Given the description of an element on the screen output the (x, y) to click on. 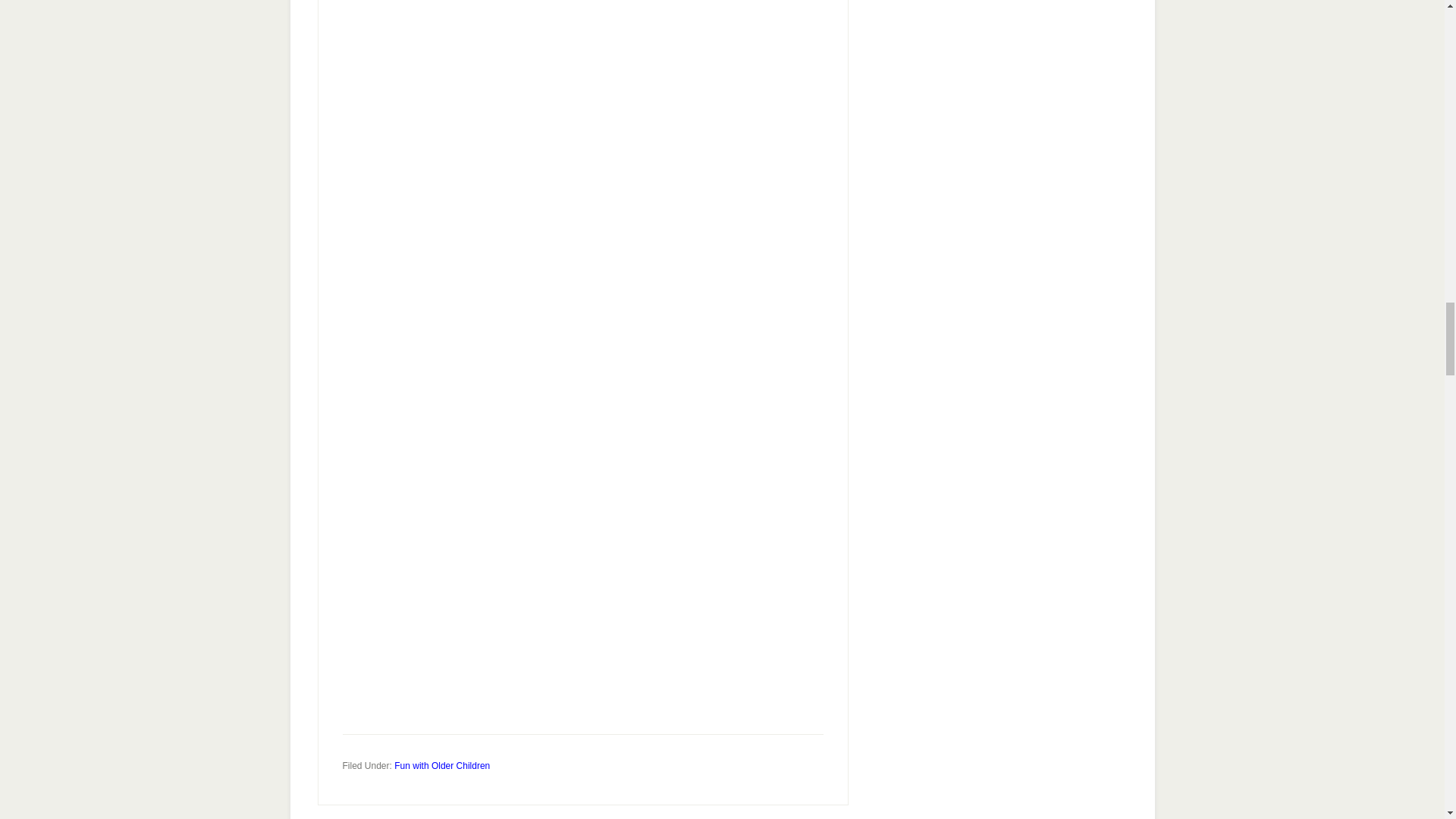
Fun with Older Children (441, 765)
